Given the description of an element on the screen output the (x, y) to click on. 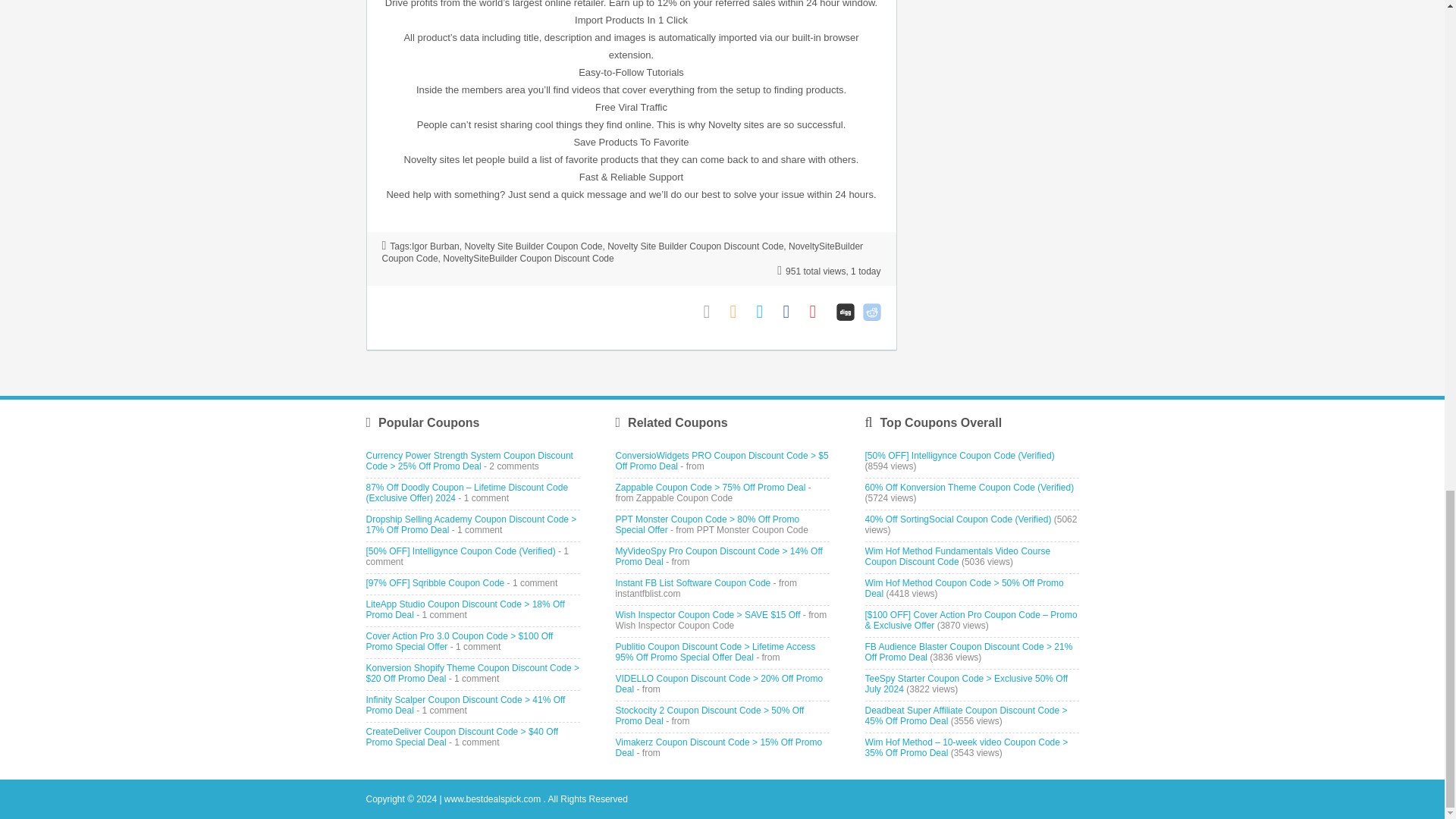
Igor Burban (436, 245)
Pinterest (818, 312)
Novelty Site Builder Coupon Code (533, 245)
Digg (844, 312)
Twitter (765, 312)
Reddit (871, 312)
Email to Friend (712, 312)
NoveltySiteBuilder Coupon Discount Code (527, 258)
Coupon Comments RSS (738, 312)
Novelty Site Builder Coupon Discount Code (695, 245)
NoveltySiteBuilder Coupon Code (622, 251)
Facebook (791, 312)
